Given the description of an element on the screen output the (x, y) to click on. 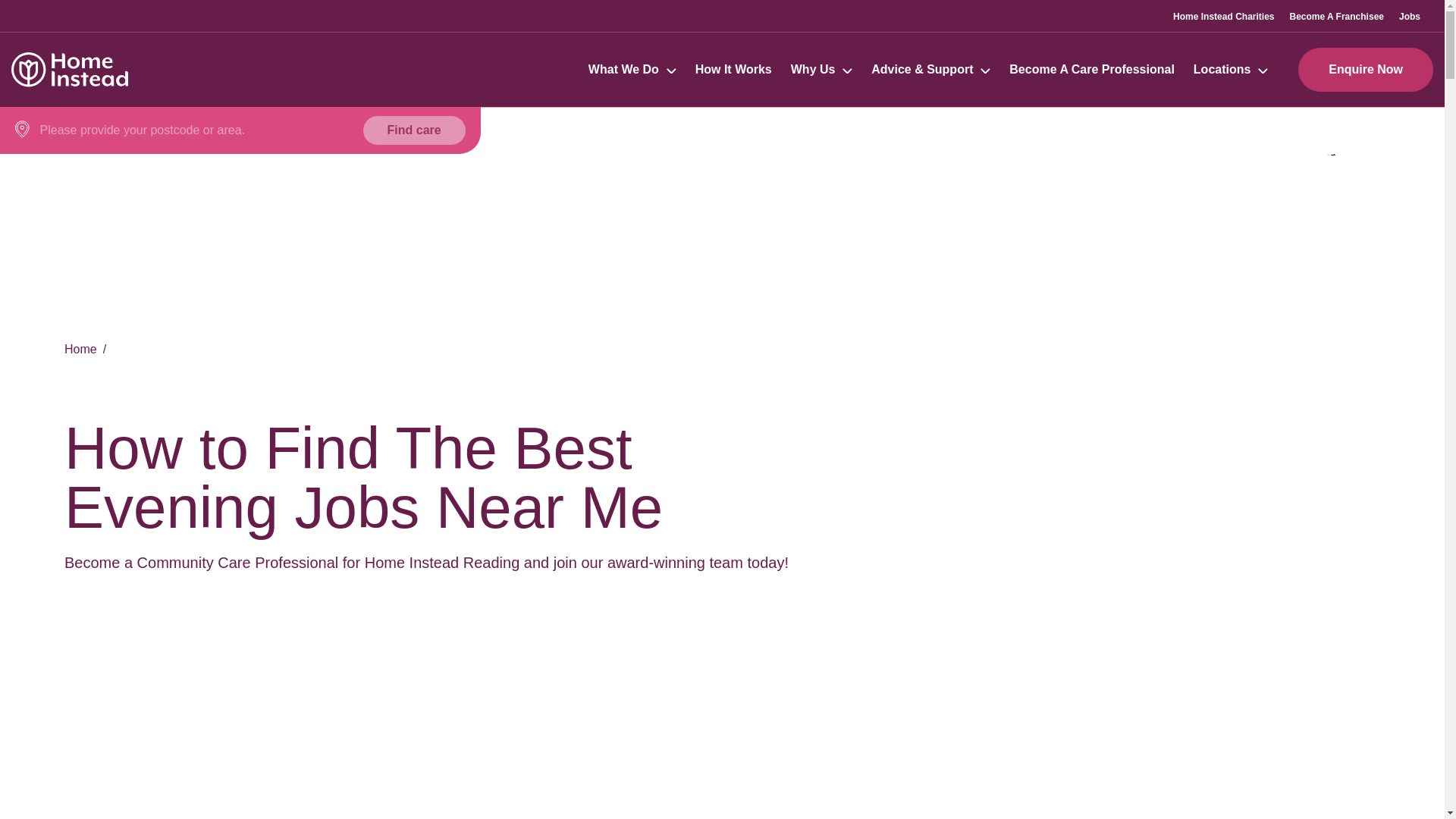
Locations (1221, 69)
Become A Franchisee (1336, 15)
What We Do (623, 69)
Jobs (1410, 15)
How It Works (733, 69)
Home Instead Charities (1223, 15)
Become A Care Professional (1091, 69)
Locations (1230, 69)
Why Us (820, 69)
Why Us (812, 69)
